Given the description of an element on the screen output the (x, y) to click on. 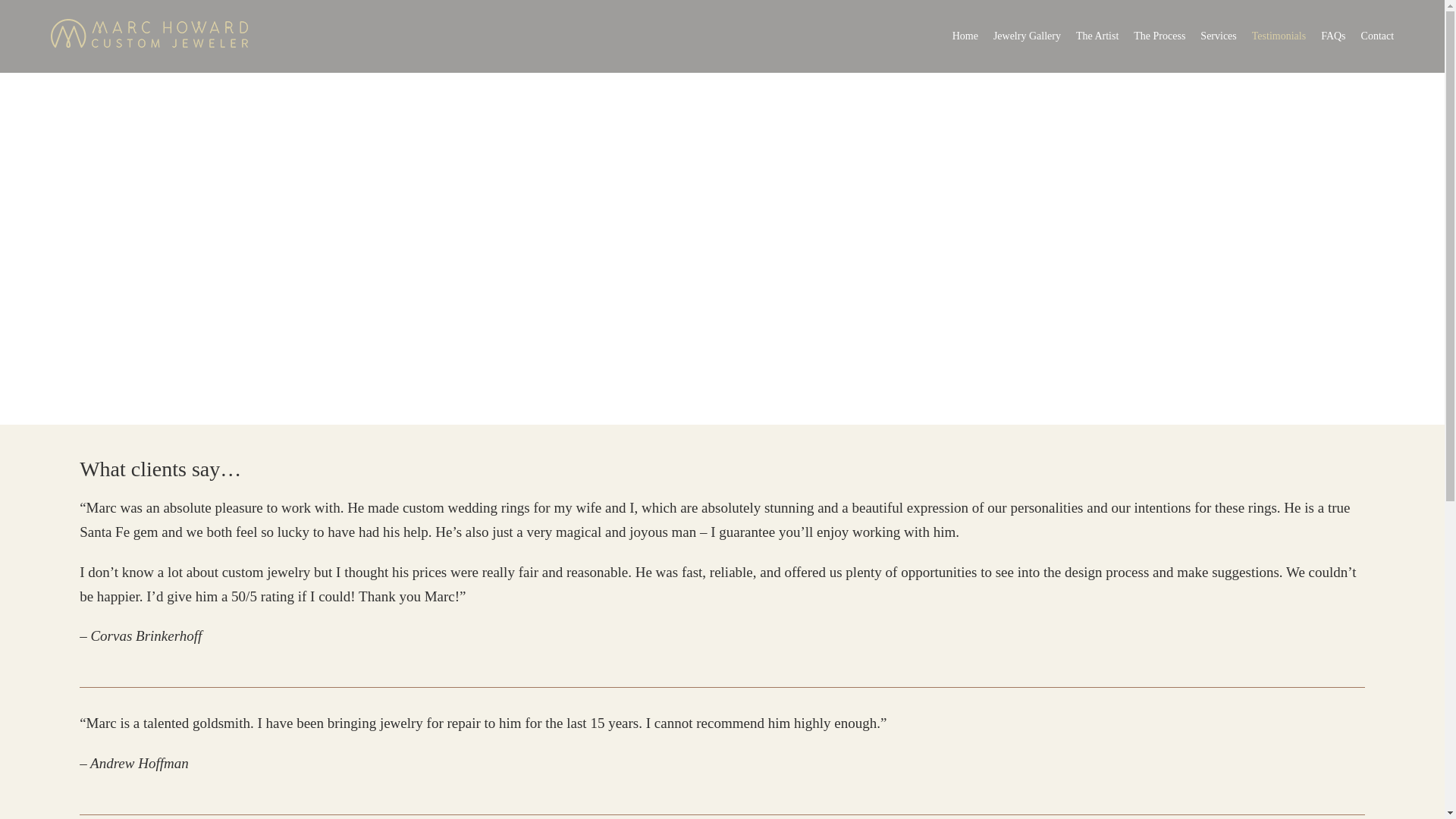
Jewelry Gallery (1026, 36)
